Given the description of an element on the screen output the (x, y) to click on. 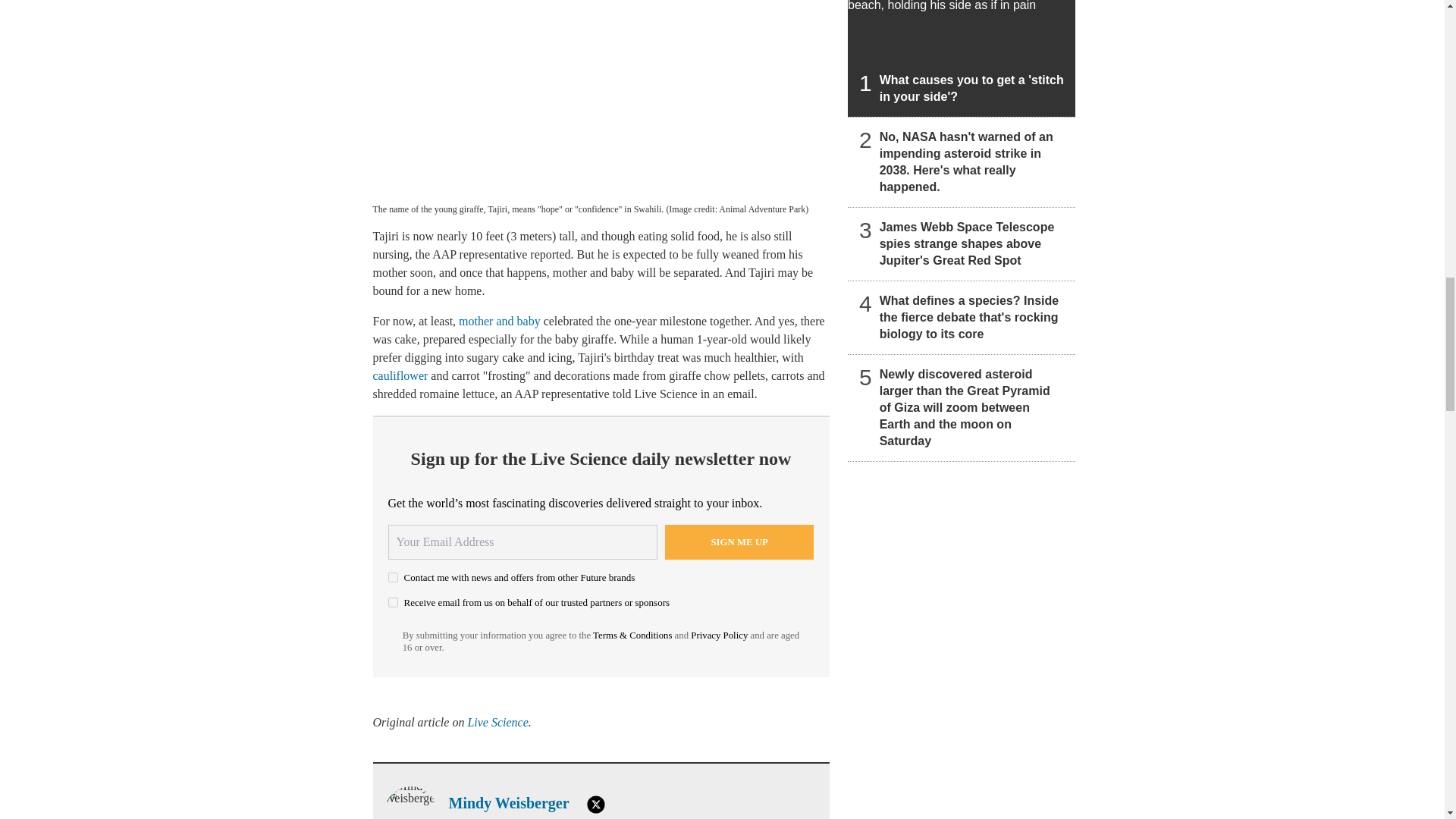
Sign me up (739, 541)
What causes you to get a 'stitch in your side'? (961, 58)
on (392, 577)
on (392, 602)
